Given the description of an element on the screen output the (x, y) to click on. 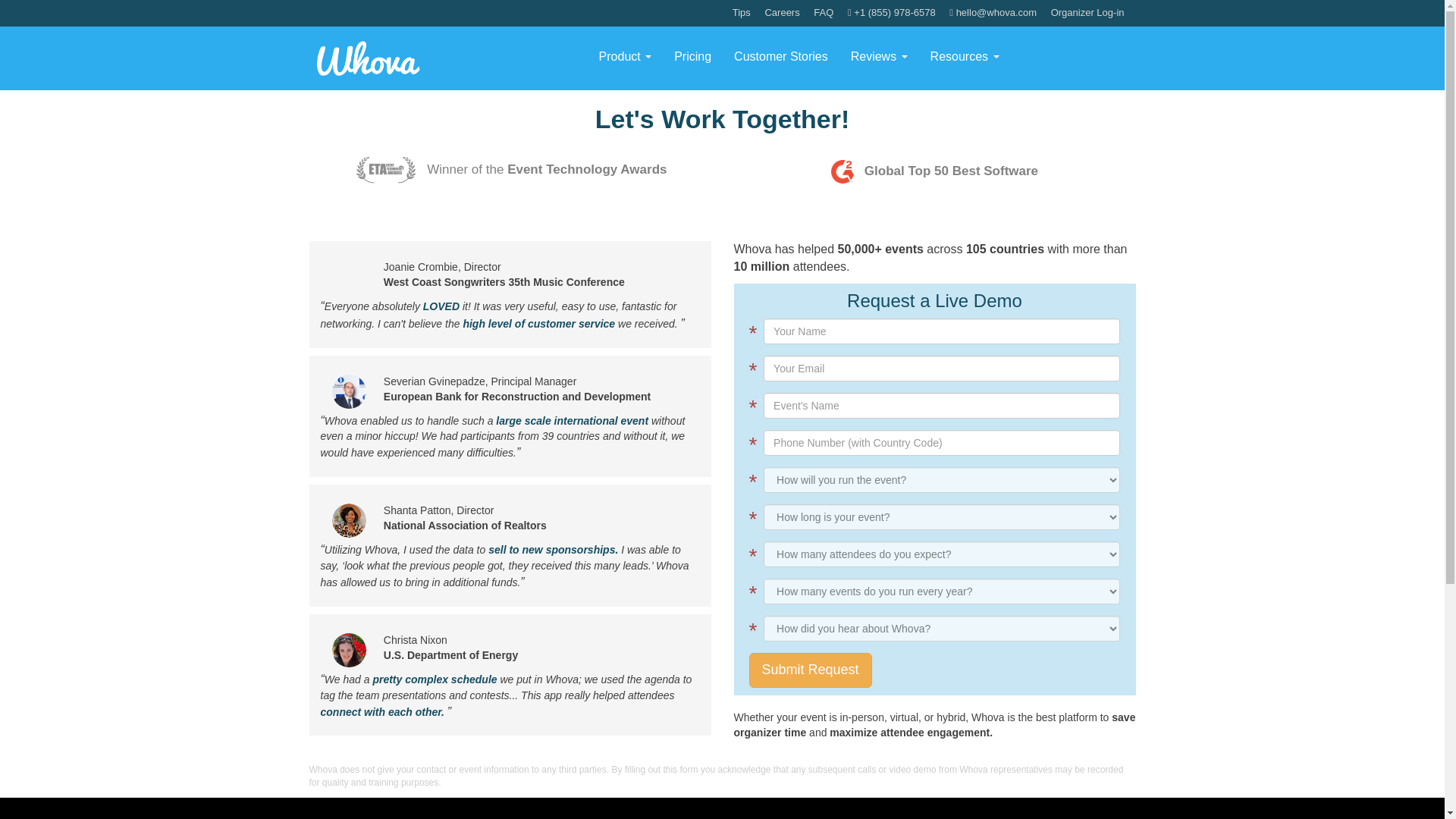
Organizer Log-in (1087, 12)
Careers (781, 12)
Resources (964, 56)
Customer Stories (781, 56)
Pricing (692, 56)
Tips (741, 12)
FAQ (822, 12)
Product (625, 56)
Submit Request (810, 669)
Reviews (879, 56)
